Given the description of an element on the screen output the (x, y) to click on. 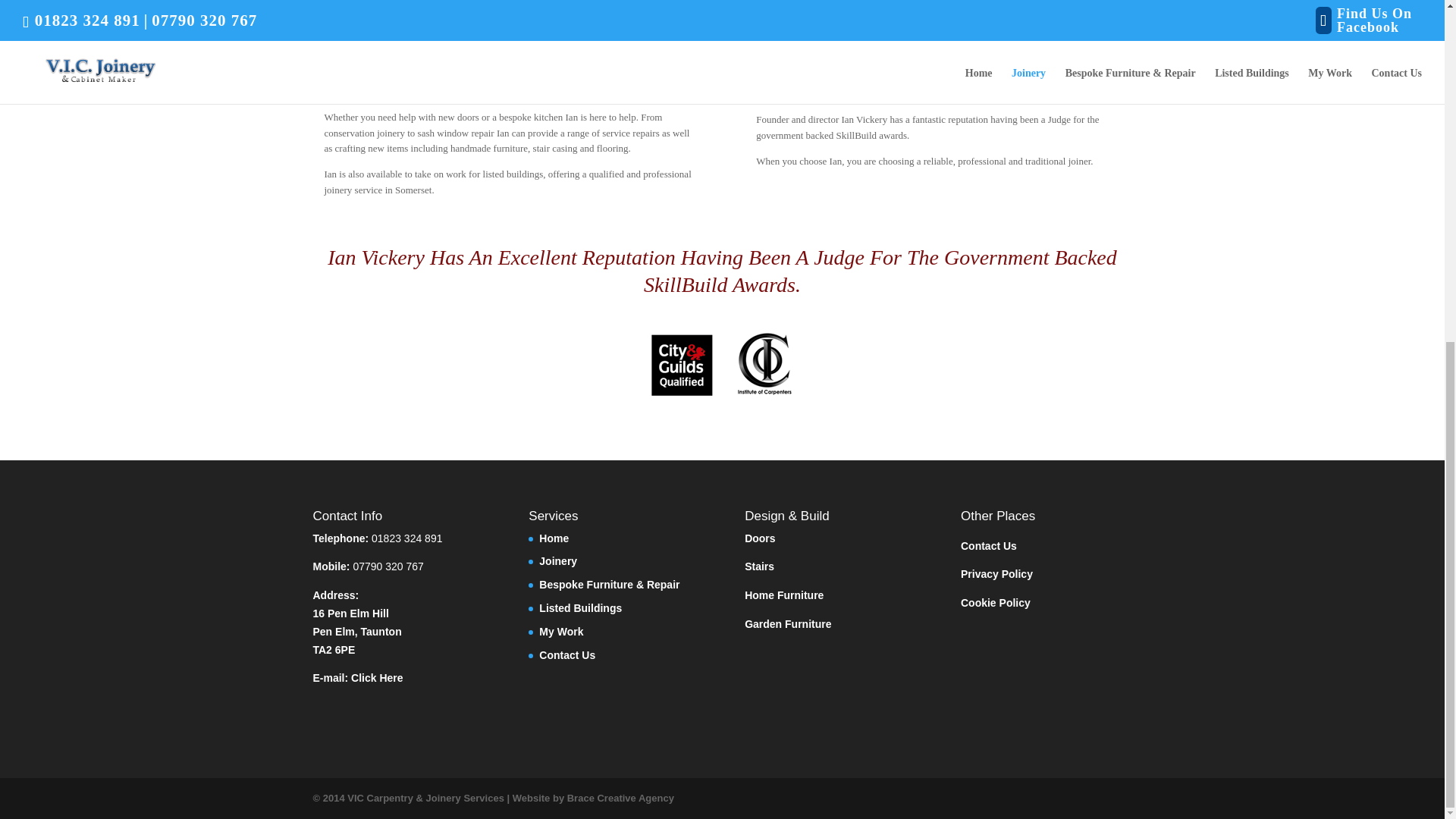
Contact Us (566, 654)
footer-logos-01 (721, 364)
Joinery (557, 561)
Privacy Policy (996, 573)
07790 320 767 (387, 566)
01823 324 891 (406, 538)
Click Here (376, 677)
Cookie Policy (995, 603)
Contact Us (988, 545)
My Work (560, 631)
Listed Buildings (579, 607)
Home (553, 538)
